Given the description of an element on the screen output the (x, y) to click on. 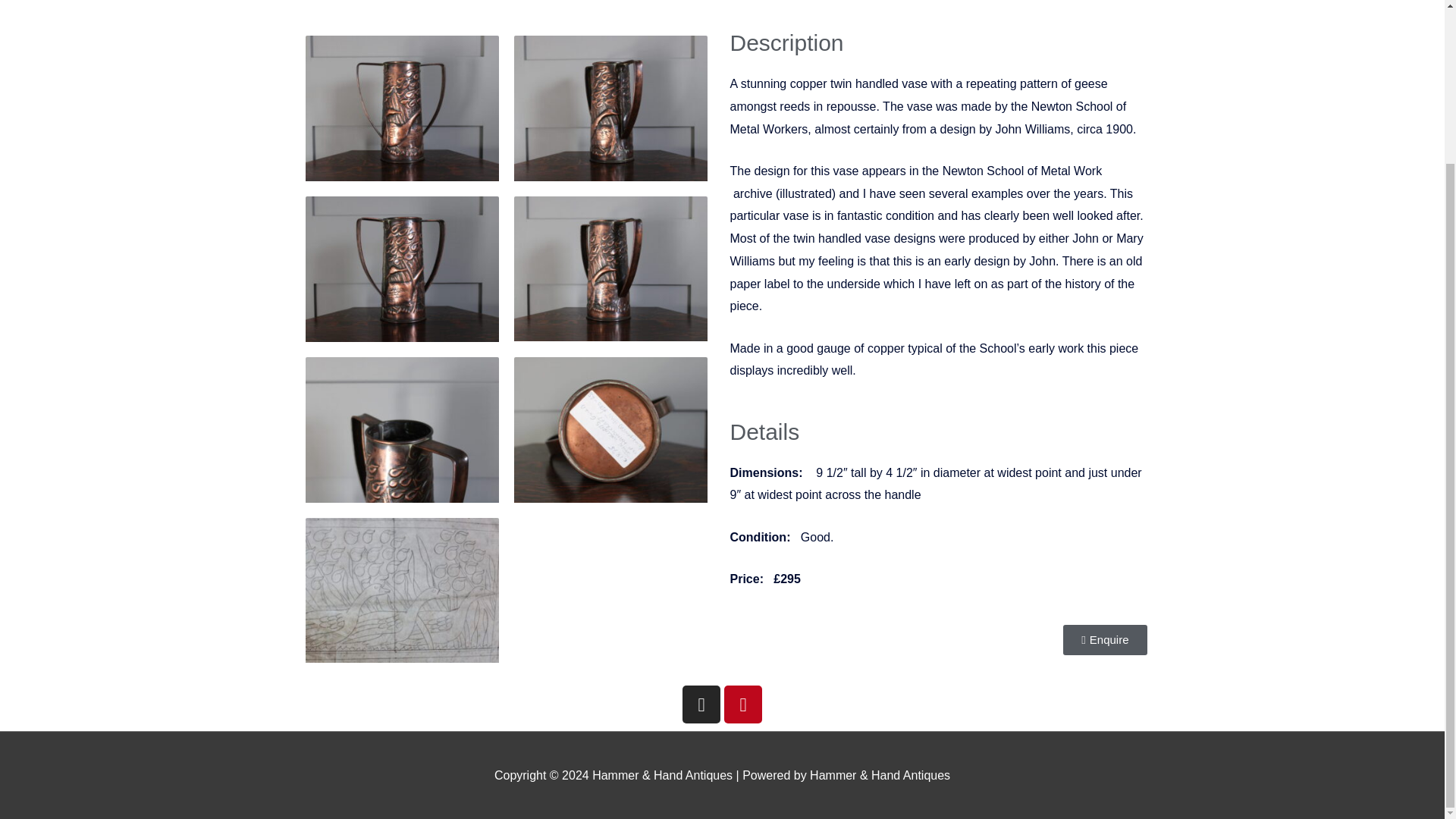
Enquire (1104, 639)
Pinterest (742, 704)
Instagram (701, 704)
